Given the description of an element on the screen output the (x, y) to click on. 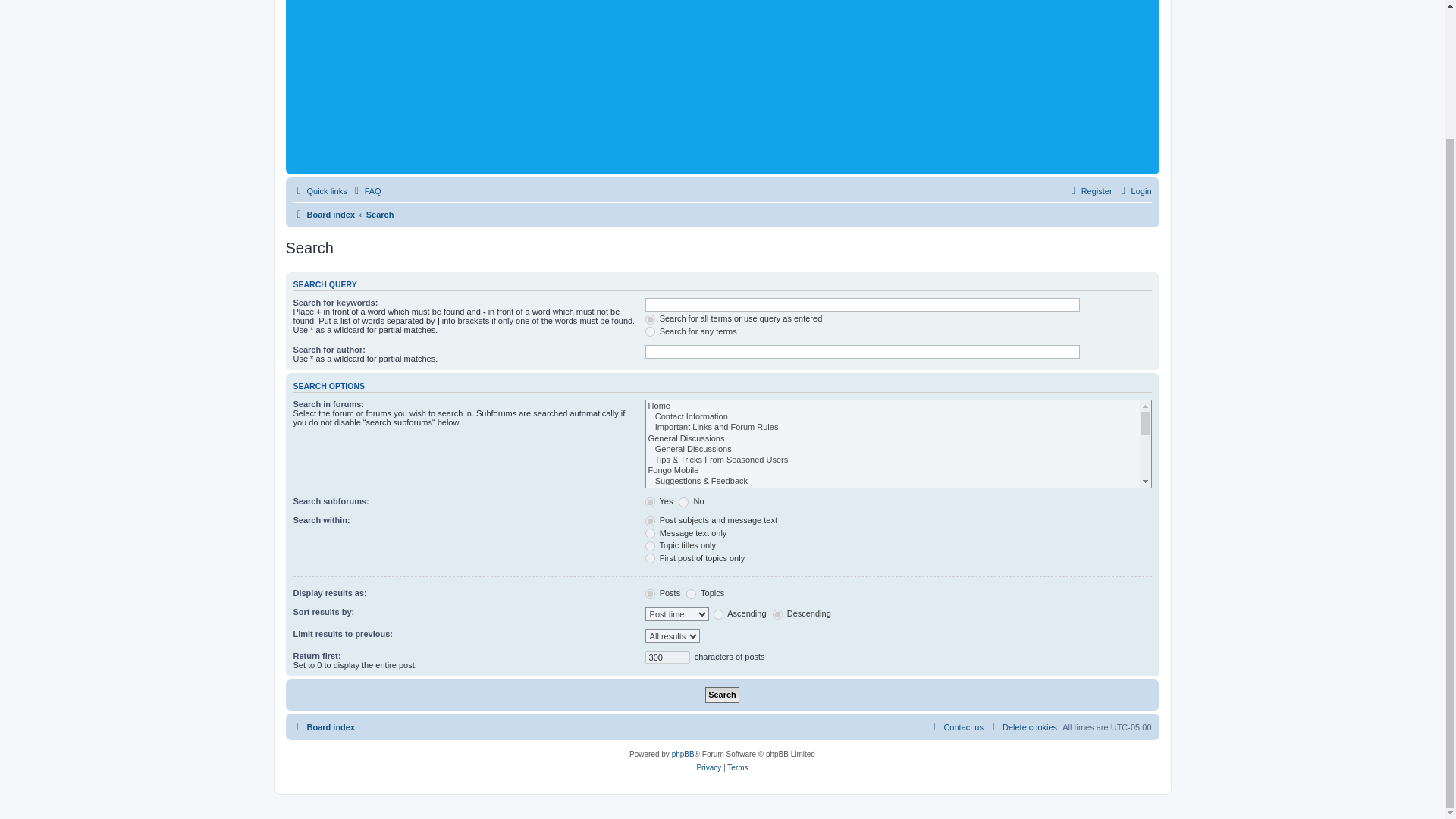
any (650, 331)
d (778, 614)
Board index (323, 214)
Search for author (862, 351)
Login (1134, 190)
Board index (323, 727)
Login (1134, 190)
Return first (667, 657)
titleonly (650, 546)
topics (690, 593)
Contact us (957, 727)
Board index (323, 727)
0 (683, 501)
Search in forums (898, 443)
300 (667, 657)
